Given the description of an element on the screen output the (x, y) to click on. 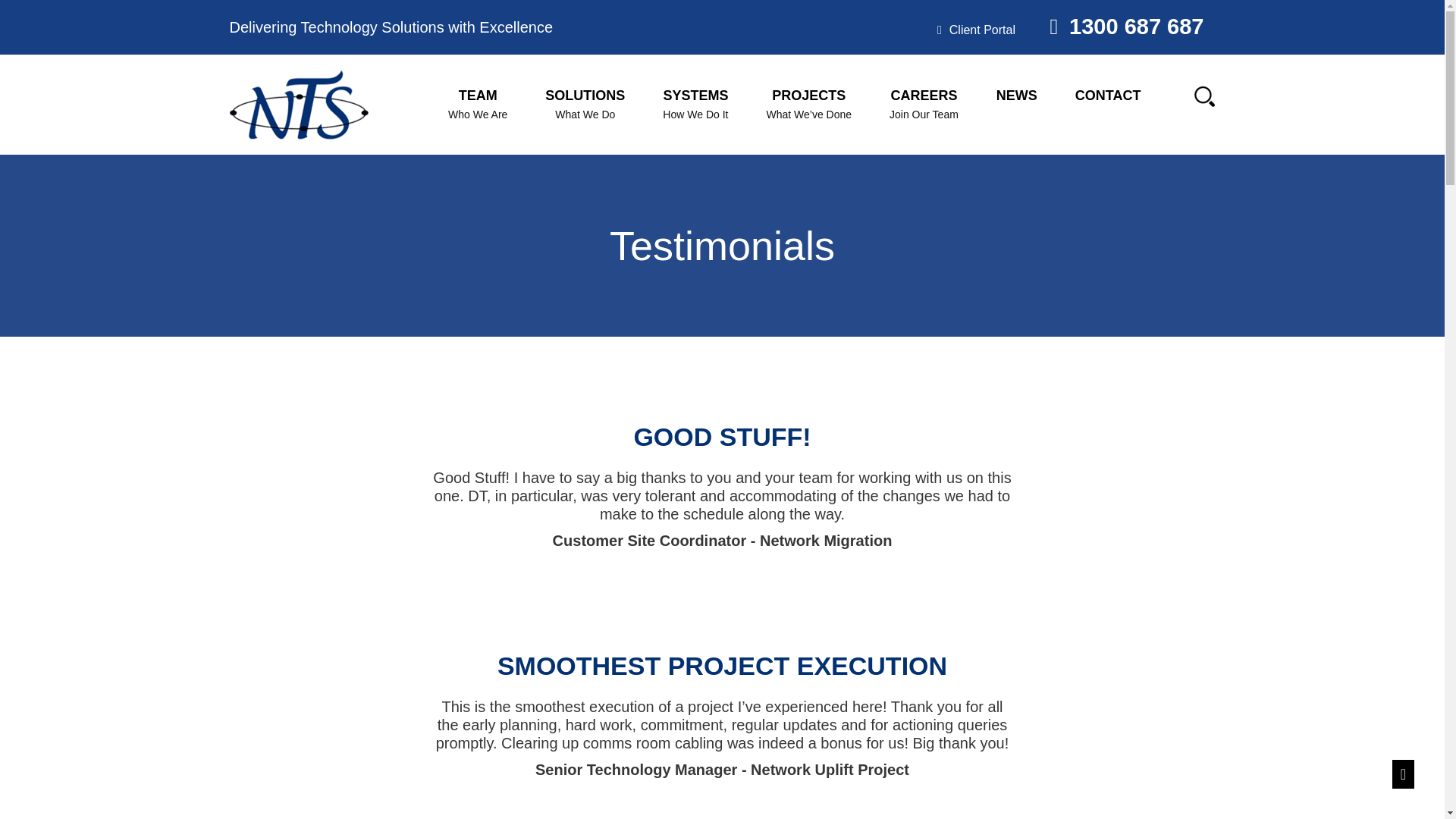
1300 687 687 (477, 104)
NEWS (1121, 26)
Client Portal (1015, 94)
CONTACT (975, 29)
